Given the description of an element on the screen output the (x, y) to click on. 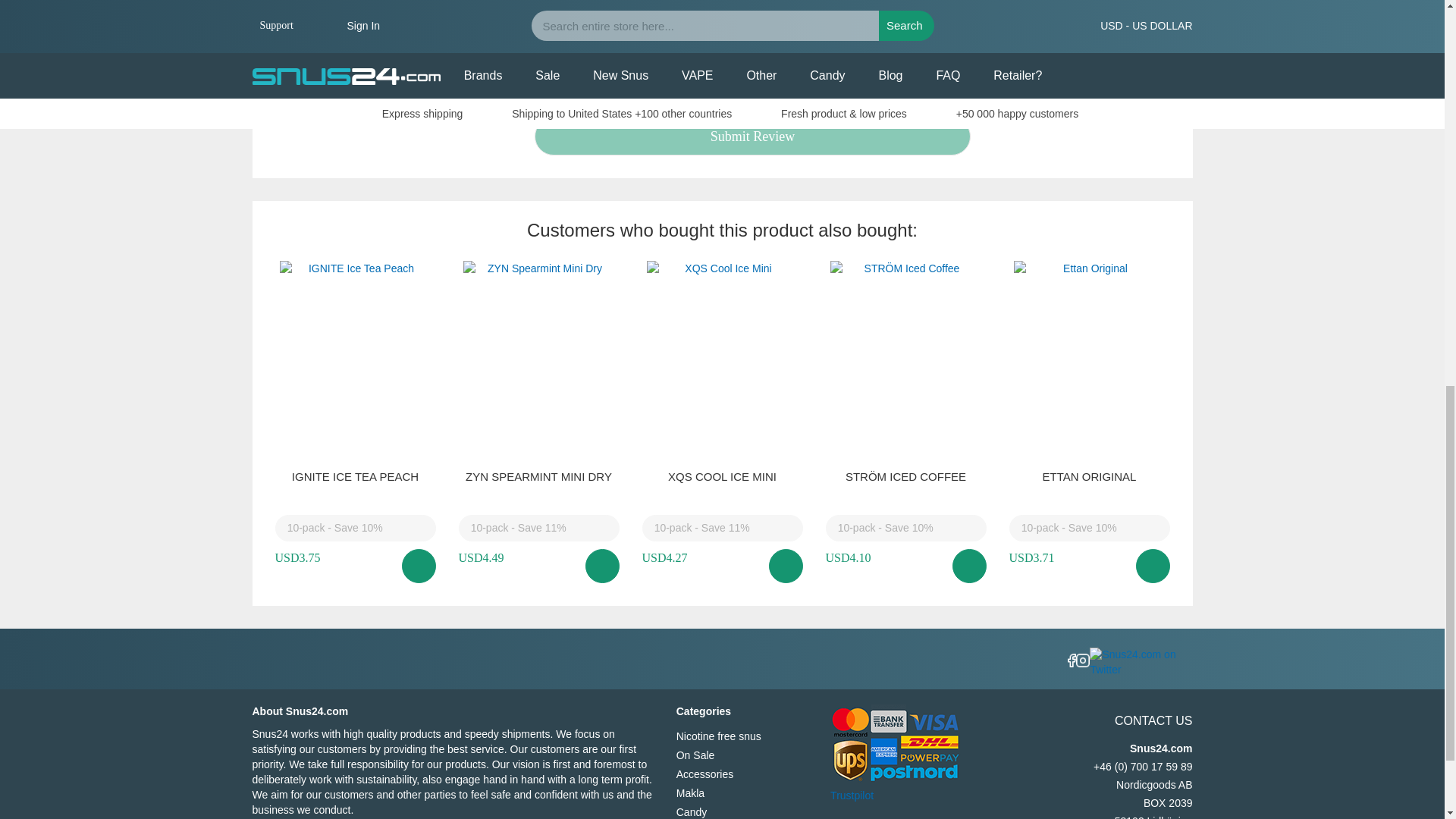
Add to Cart (418, 565)
ZYN Spearmint Mini Dry (538, 476)
Add to Cart (602, 565)
IGNITE Ice Tea Peach (355, 476)
